Given the description of an element on the screen output the (x, y) to click on. 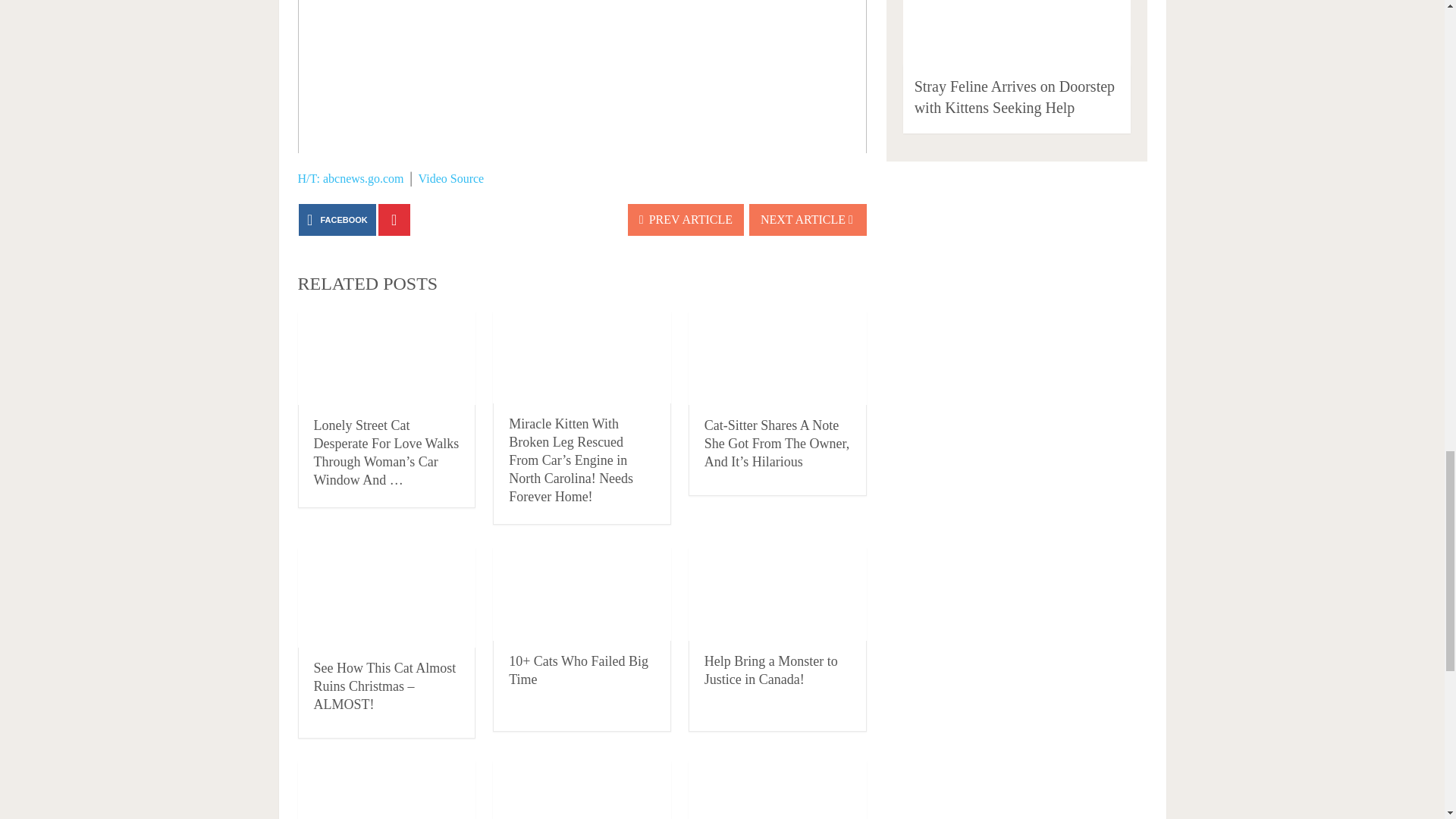
PREV ARTICLE (685, 219)
FACEBOOK (336, 219)
Video Source (451, 178)
Help Bring a Monster to Justice in Canada! (771, 670)
NEXT ARTICLE (807, 219)
